Given the description of an element on the screen output the (x, y) to click on. 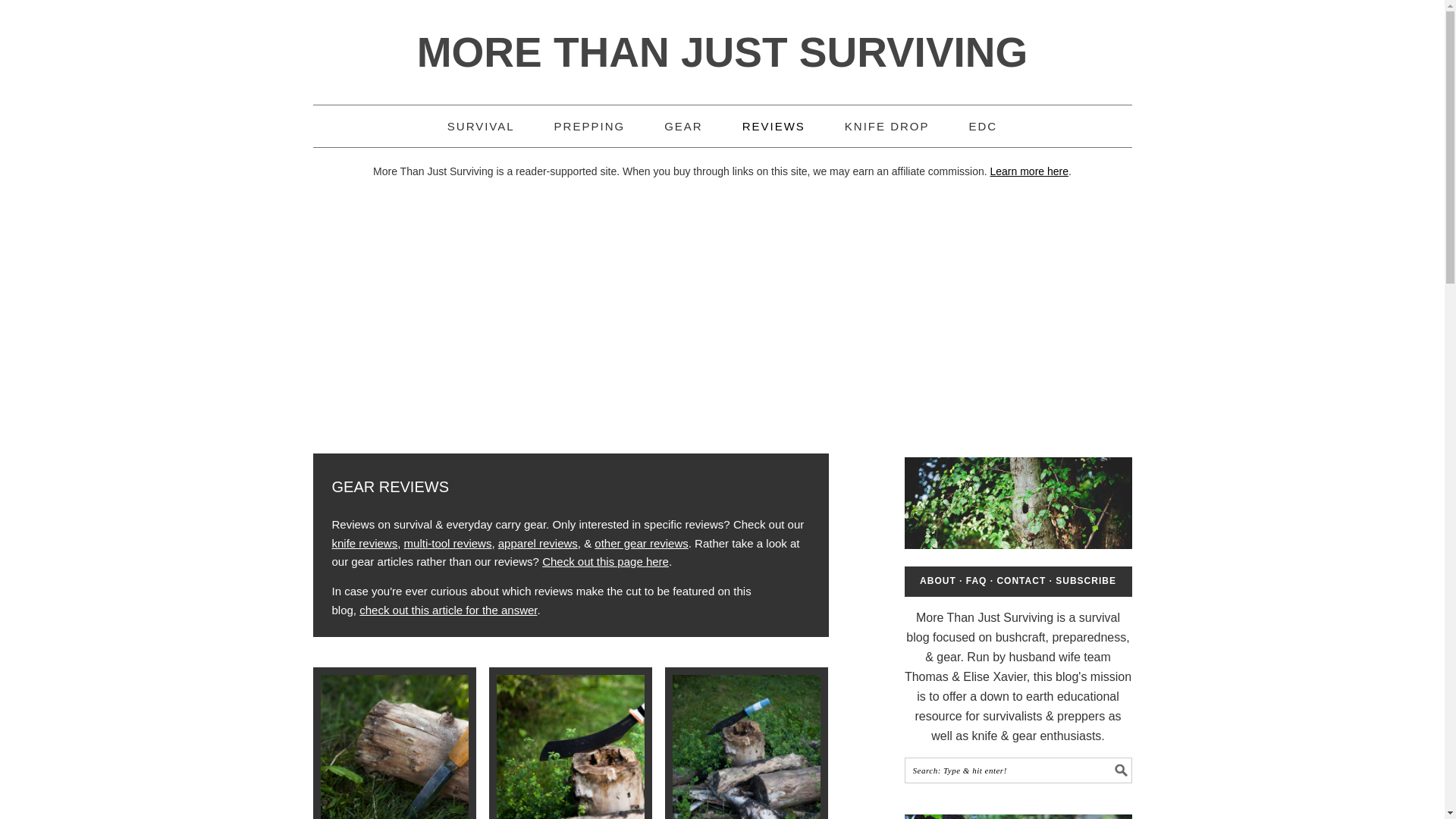
SURVIVAL (481, 126)
MORE THAN JUST SURVIVING (721, 52)
other gear reviews (640, 543)
knife reviews (364, 543)
EDC (983, 126)
Check out this page here (604, 561)
check out this article for the answer (448, 609)
multi-tool reviews (448, 543)
apparel reviews (537, 543)
REVIEWS (773, 126)
